Given the description of an element on the screen output the (x, y) to click on. 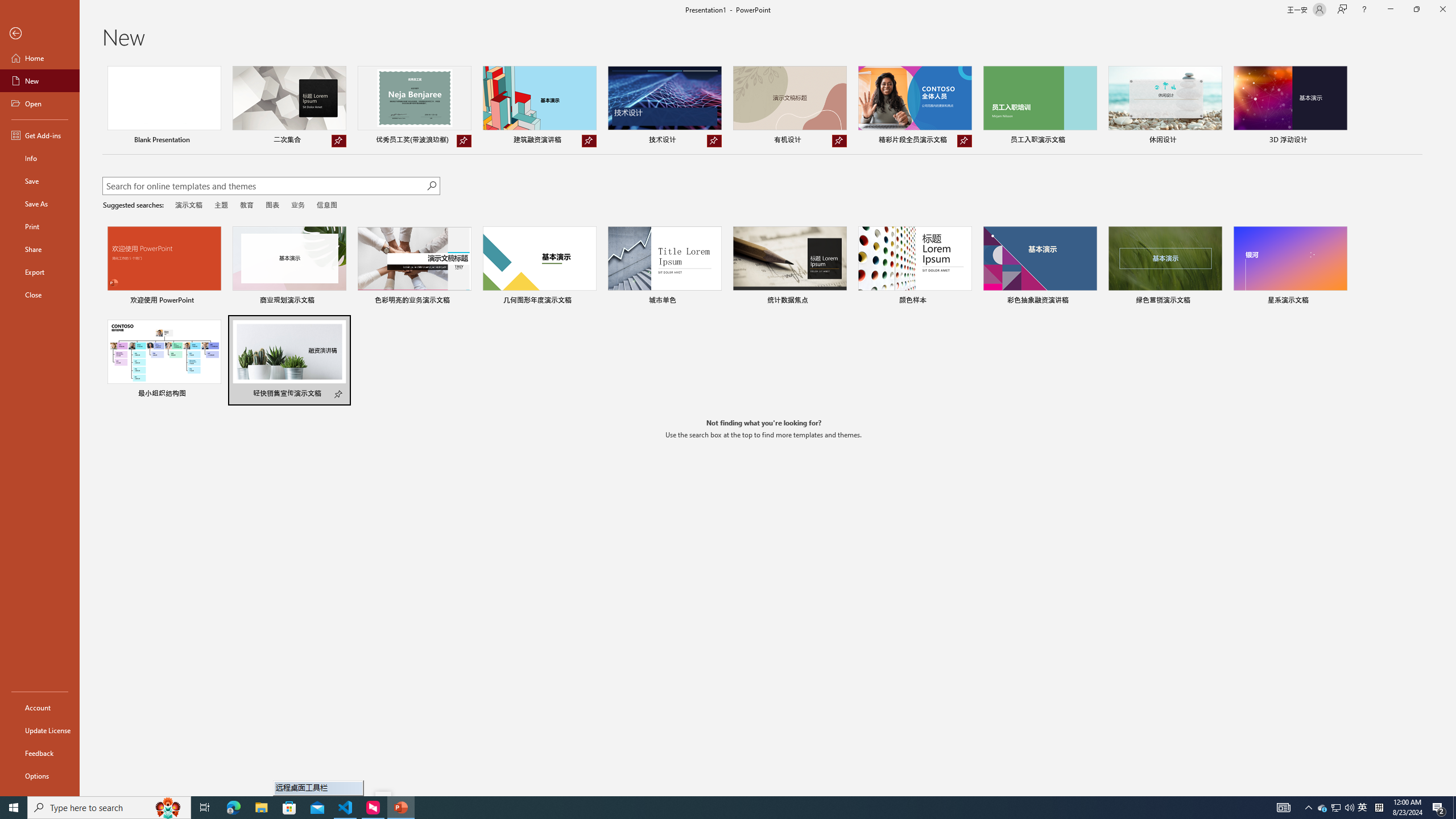
Class: NetUIScrollBar (1450, 428)
Unpin from list (964, 141)
Pin to list (338, 394)
